Given the description of an element on the screen output the (x, y) to click on. 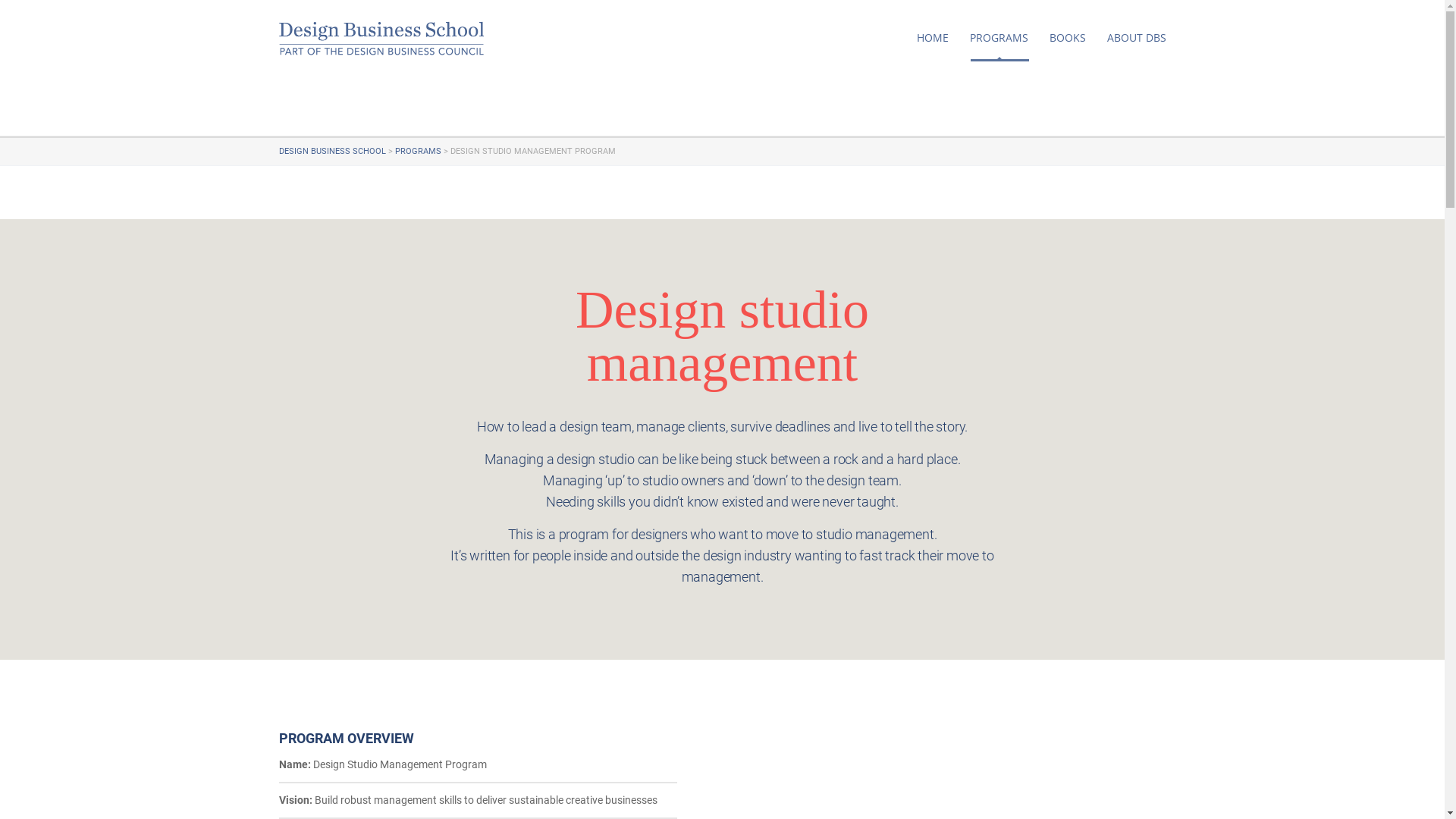
PROGRAMS Element type: text (998, 37)
HOME Element type: text (931, 37)
ABOUT DBS Element type: text (1136, 37)
BOOKS Element type: text (1067, 37)
PROGRAMS Element type: text (417, 151)
DESIGN BUSINESS SCHOOL Element type: text (332, 151)
